Given the description of an element on the screen output the (x, y) to click on. 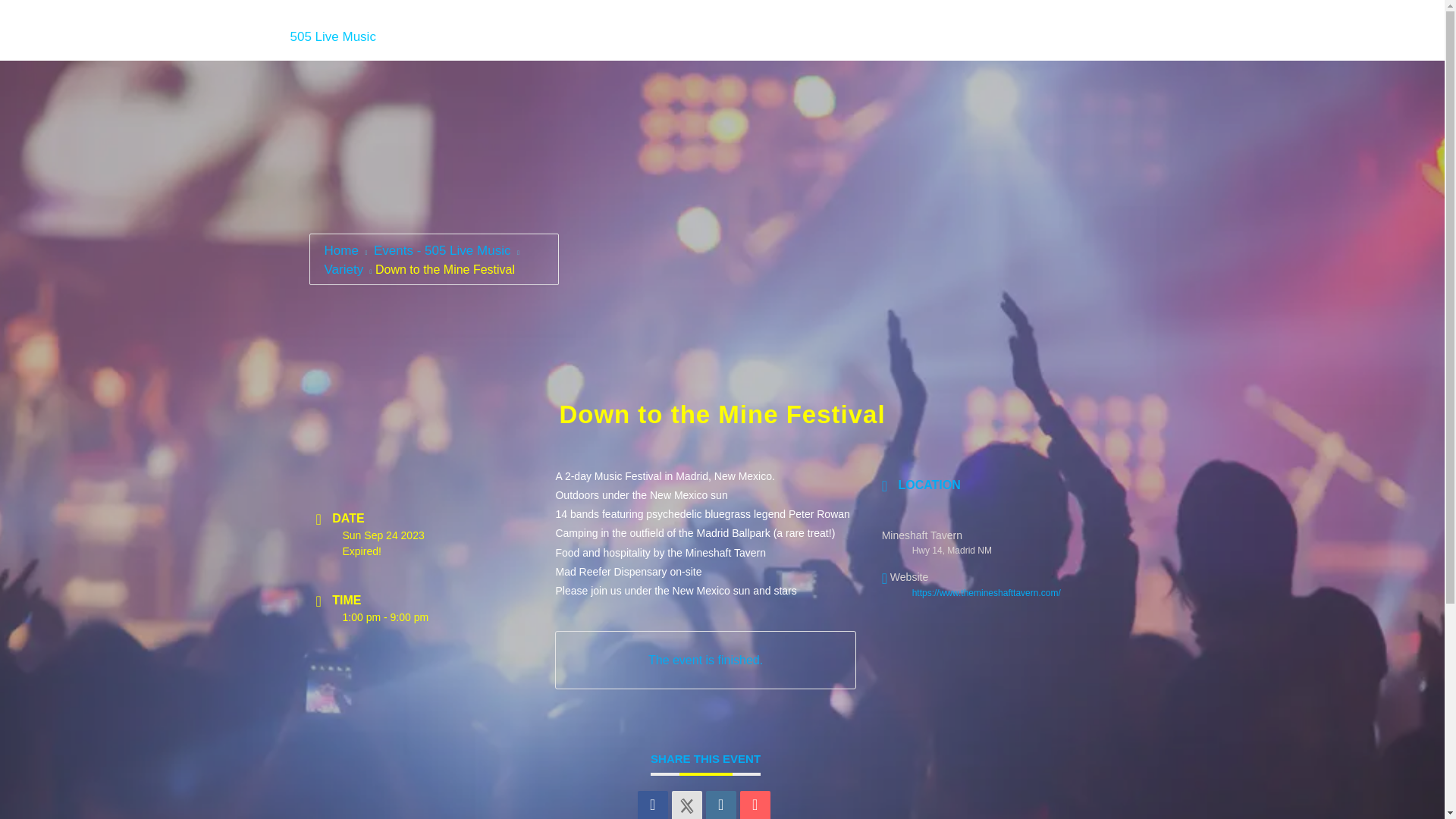
Linkedin (721, 805)
505 Live Music (332, 36)
Variety (342, 269)
Home (341, 250)
Share on Facebook (652, 805)
Email (754, 805)
Events - 505 Live Music (441, 250)
Home (332, 36)
X Social Network (686, 805)
